Given the description of an element on the screen output the (x, y) to click on. 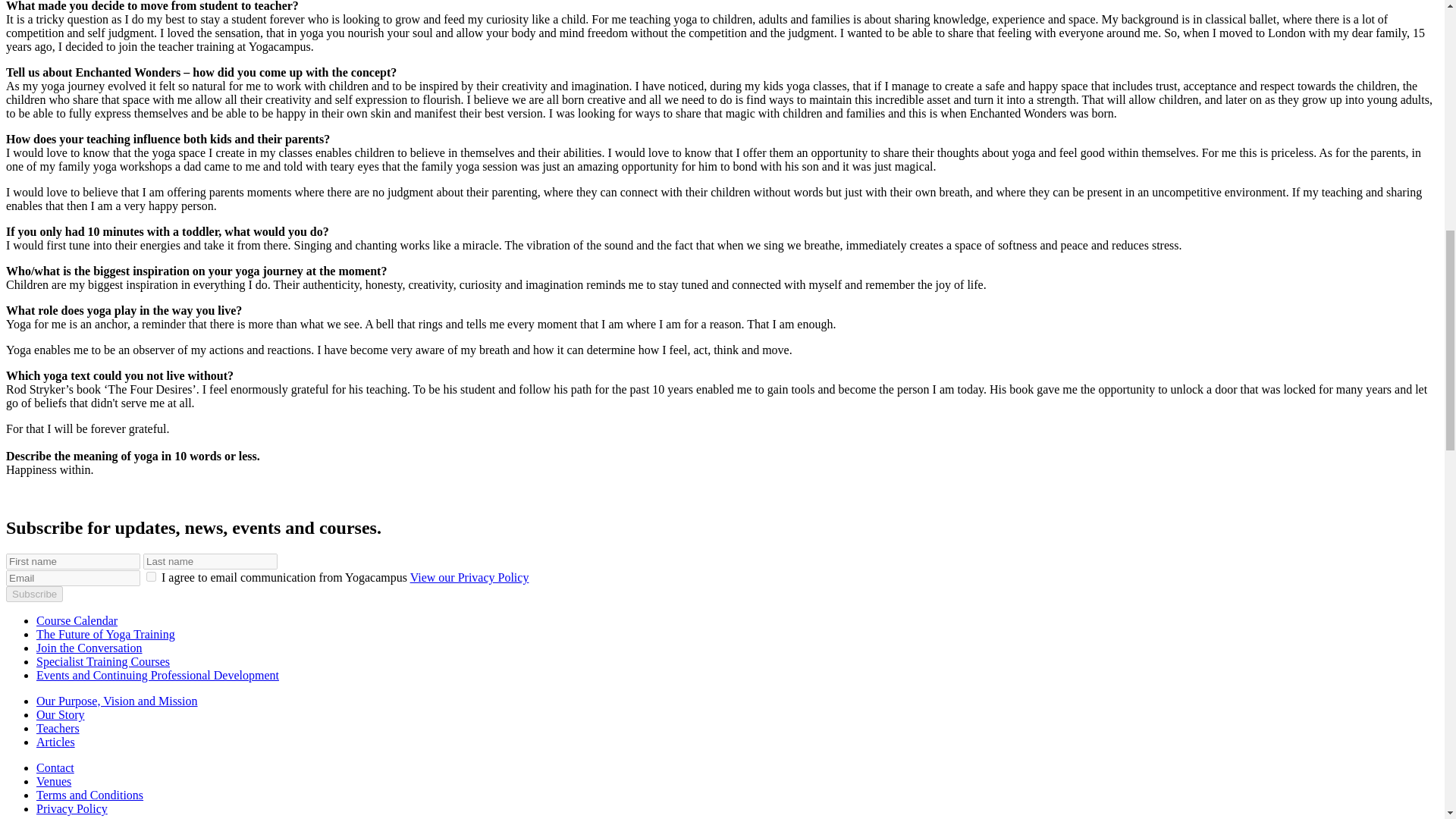
Course Calendar (76, 620)
View our Privacy Policy (469, 576)
Y (151, 576)
Subscribe (33, 593)
Subscribe (33, 593)
